Given the description of an element on the screen output the (x, y) to click on. 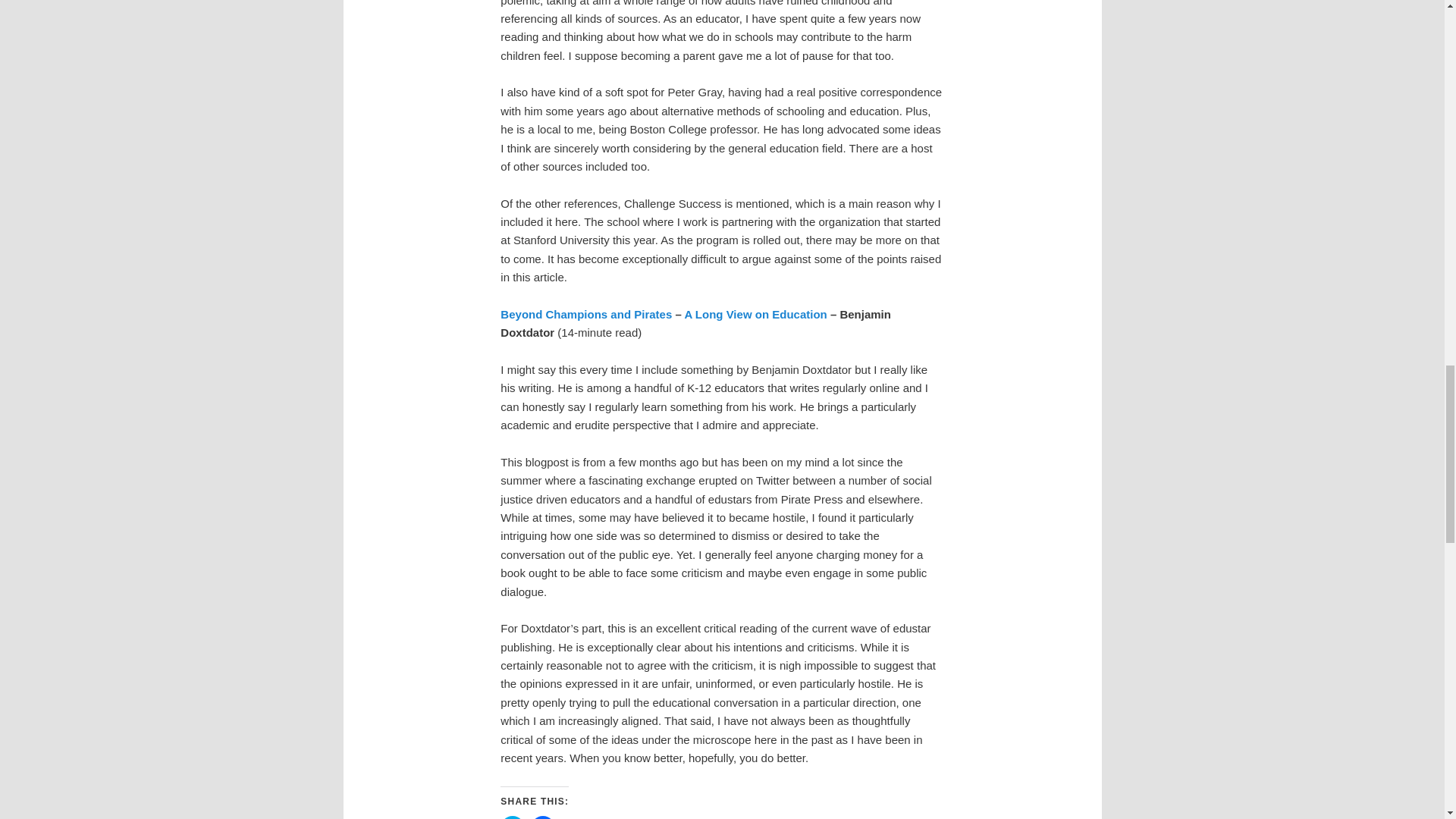
Beyond Champions and Pirates (585, 314)
Click to share on Facebook (542, 817)
A Long View on Education (755, 314)
Click to share on Twitter (512, 817)
